Given the description of an element on the screen output the (x, y) to click on. 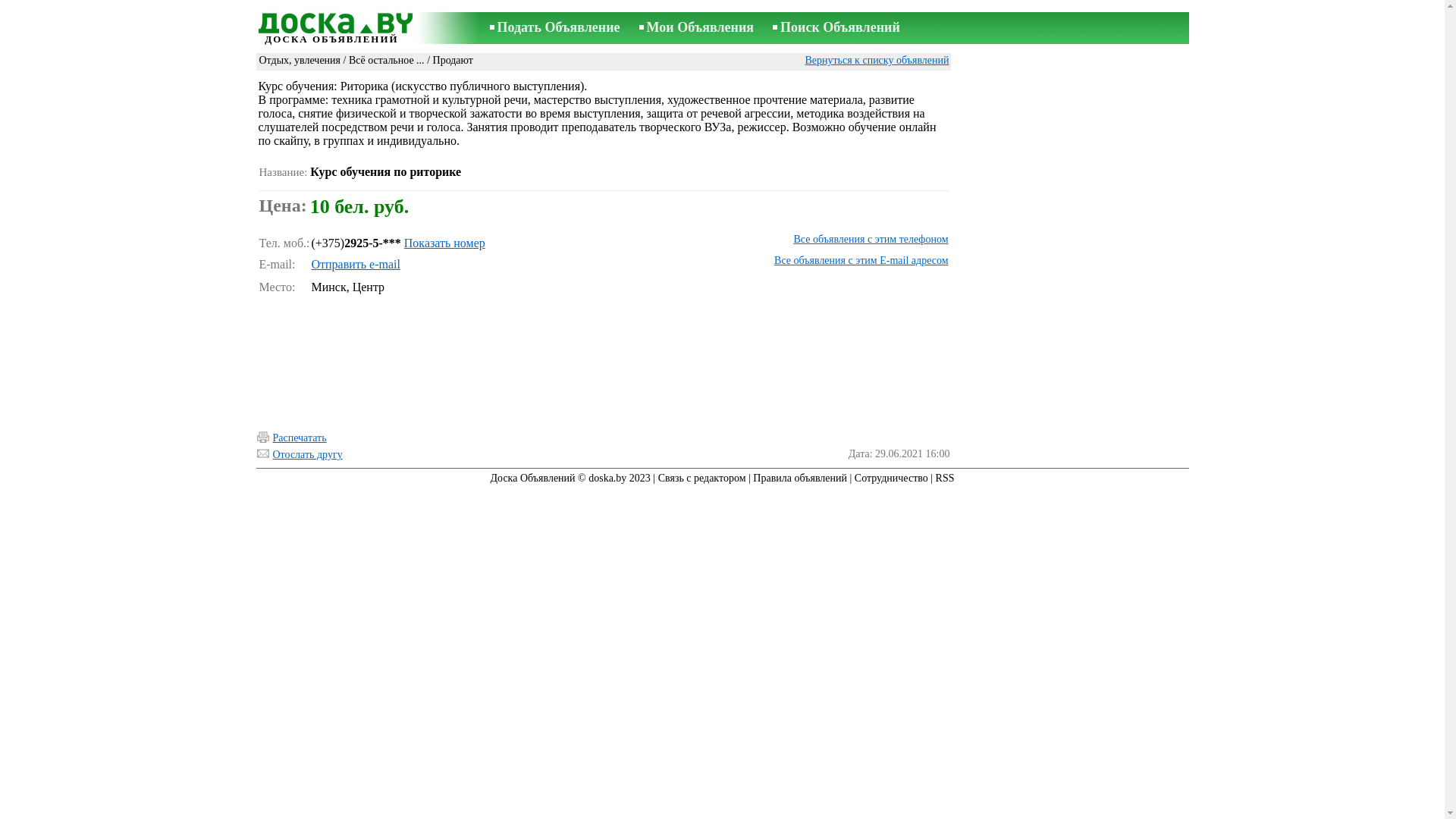
RSS Element type: text (944, 477)
